Given the description of an element on the screen output the (x, y) to click on. 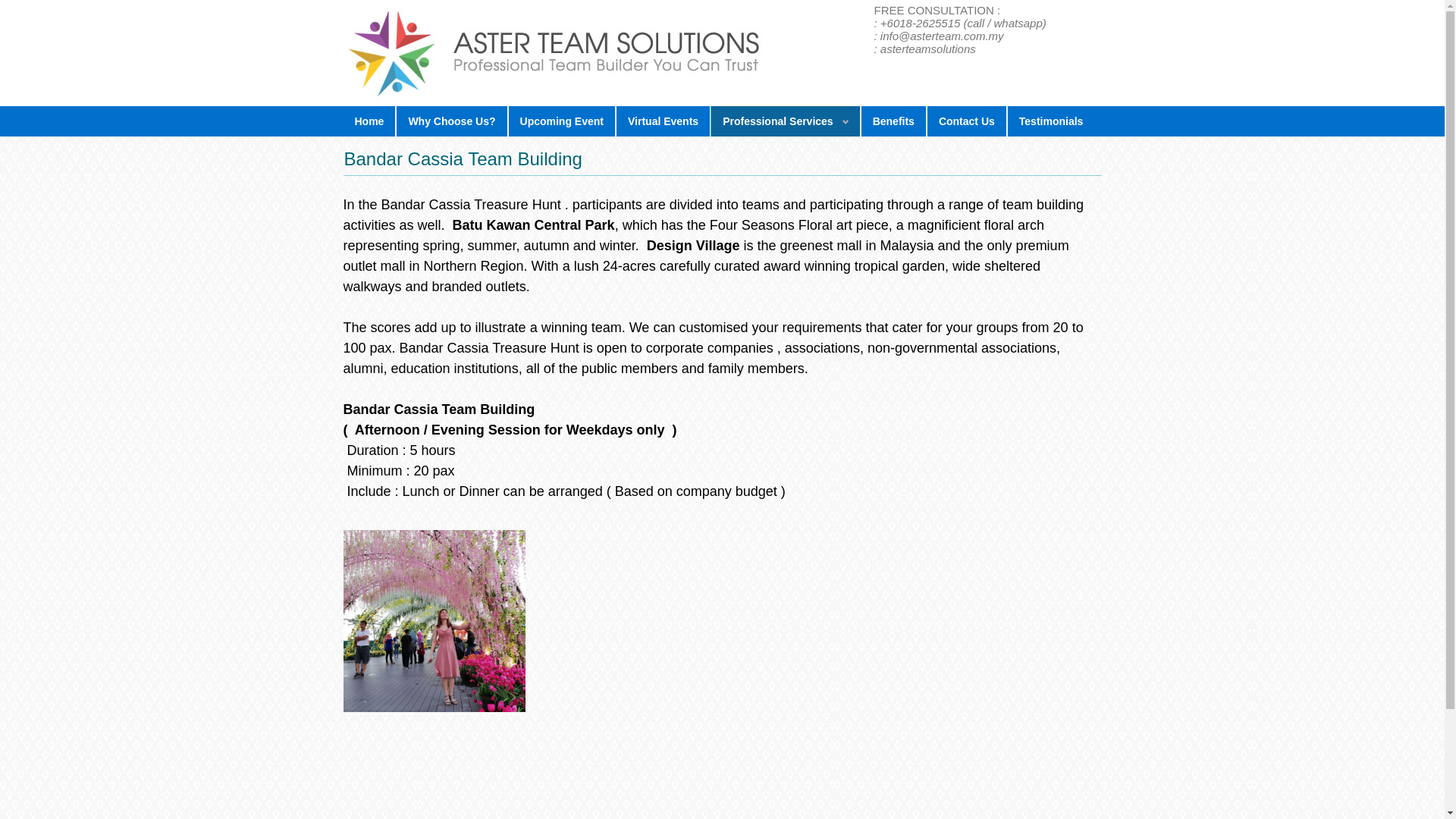
Why Choose Us? (451, 121)
Upcoming Event (561, 121)
asterteamsolutions (927, 48)
Home (369, 121)
